Given the description of an element on the screen output the (x, y) to click on. 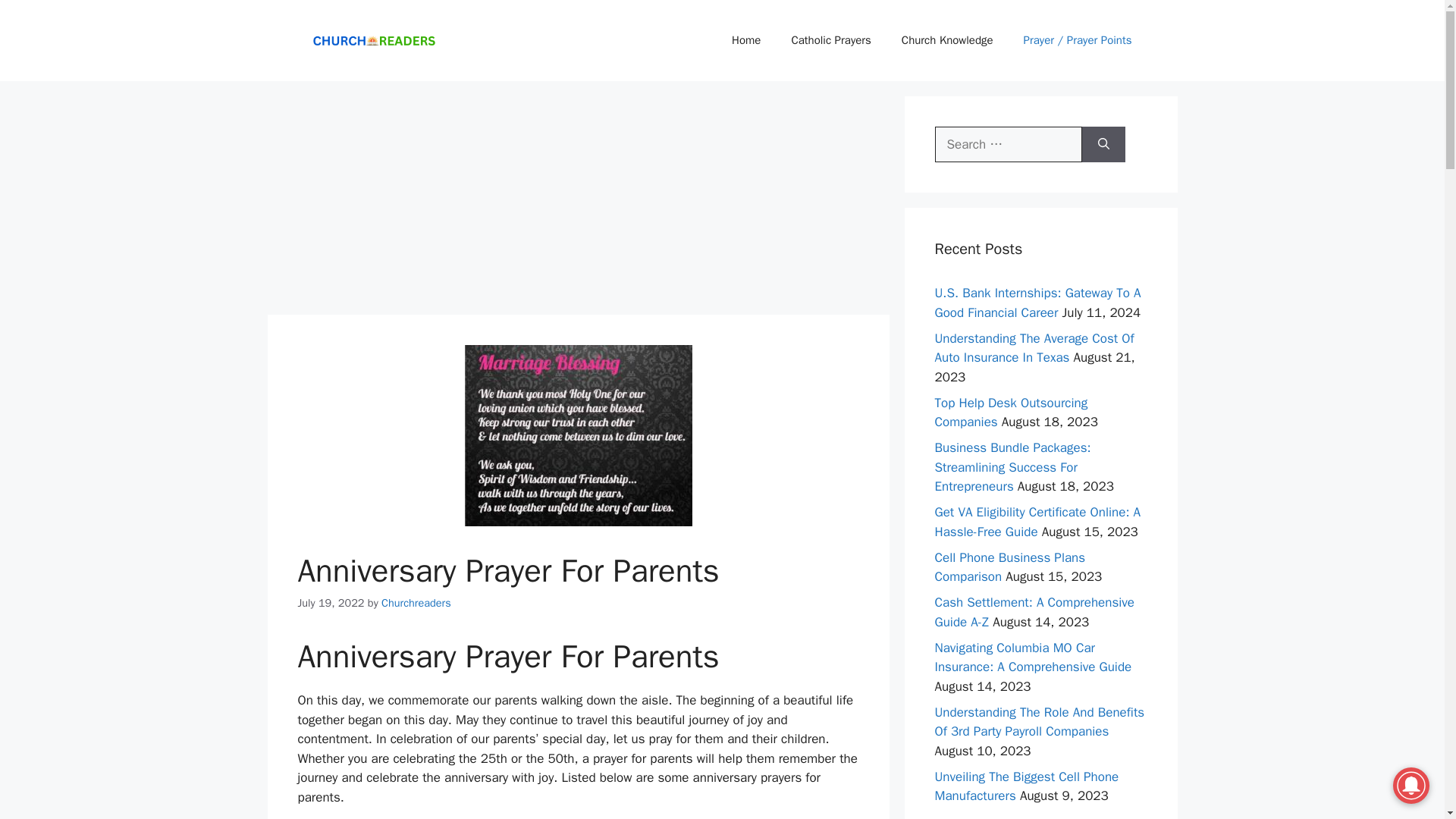
Top Help Desk Outsourcing Companies (1010, 412)
Advertisement (577, 202)
View all posts by Churchreaders (416, 602)
U.S. Bank Internships: Gateway To A Good Financial Career (1037, 303)
Church Knowledge (947, 40)
Get VA Eligibility Certificate Online: A Hassle-Free Guide (1037, 521)
Churchreaders (416, 602)
Catholic Prayers (830, 40)
Navigating Columbia MO Car Insurance: A Comprehensive Guide (1032, 657)
Search for: (1007, 144)
Unveiling The Biggest Cell Phone Manufacturers (1026, 786)
Cash Settlement: A Comprehensive Guide A-Z (1034, 611)
Cell Phone Business Plans Comparison (1009, 567)
